Given the description of an element on the screen output the (x, y) to click on. 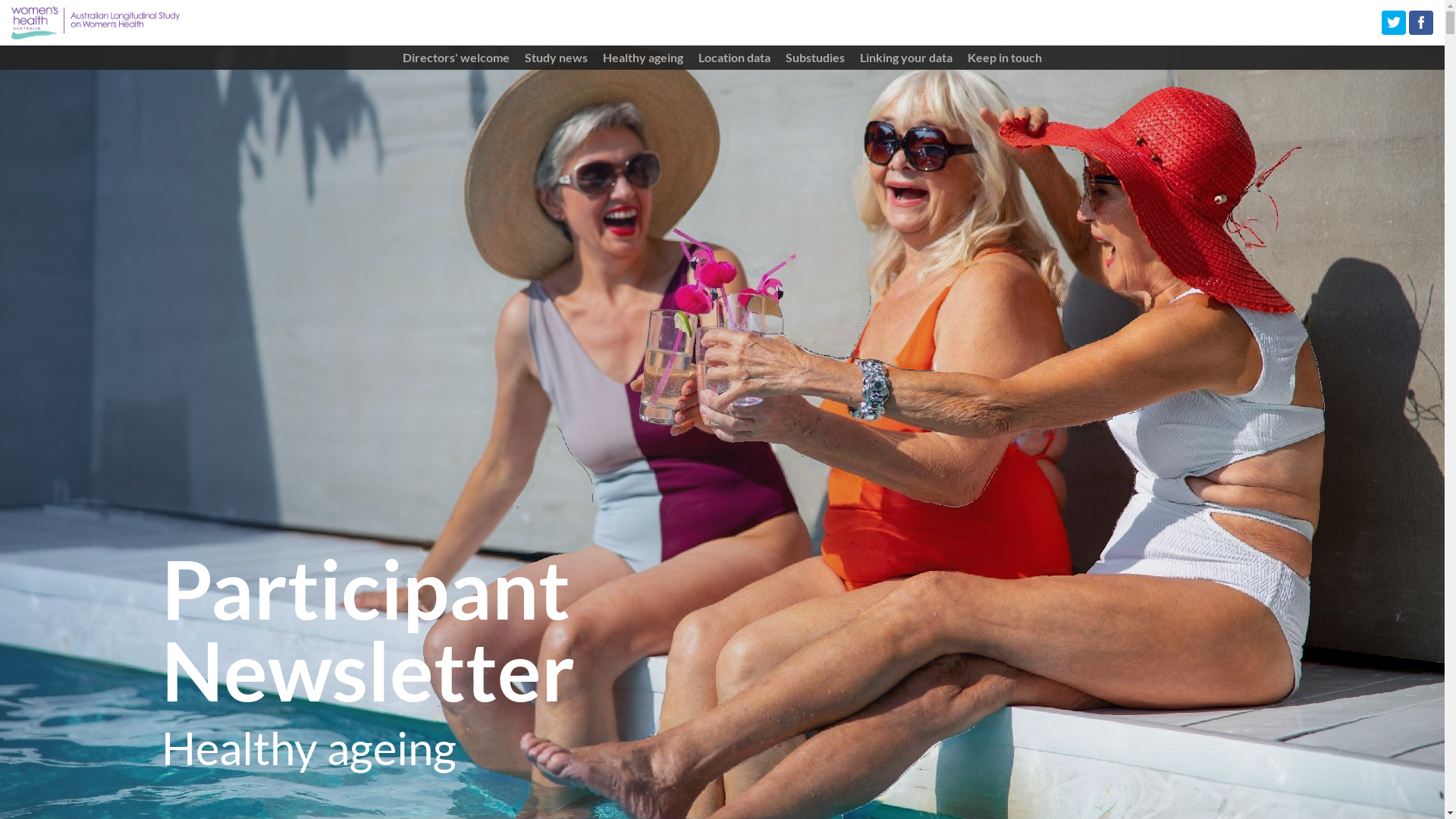
Directors' welcome Element type: text (456, 57)
Keep in touch Element type: text (1004, 57)
Substudies Element type: text (815, 57)
Linking your data Element type: text (906, 57)
Location data Element type: text (734, 57)
Study news Element type: text (556, 57)
Healthy ageing Element type: text (642, 57)
Facebook Element type: text (1420, 22)
Twitter Element type: text (1393, 22)
